Given the description of an element on the screen output the (x, y) to click on. 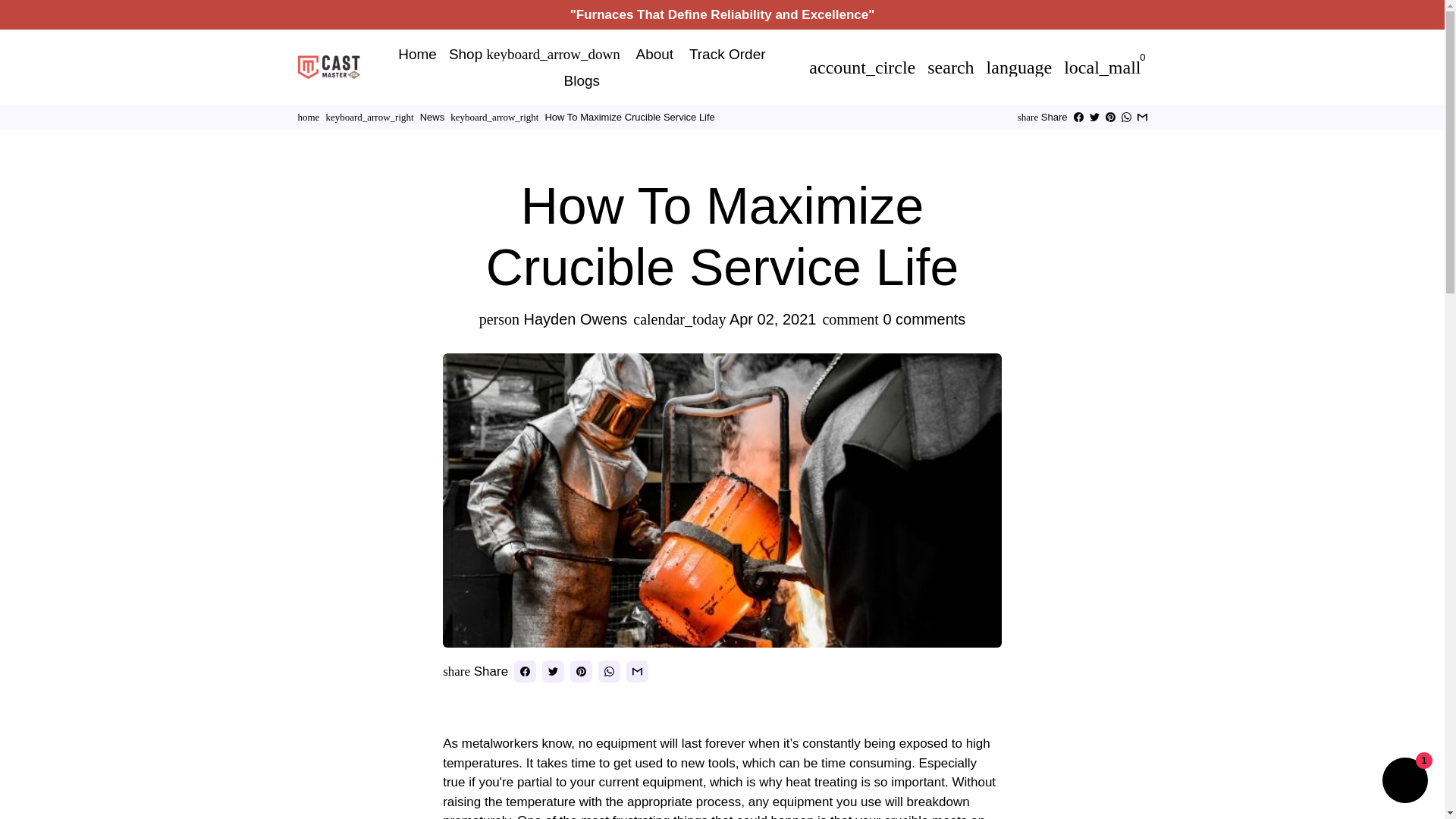
Cart (1102, 66)
Home (416, 53)
Castmastereliteshop (307, 116)
Search (950, 66)
Log In (862, 66)
